Given the description of an element on the screen output the (x, y) to click on. 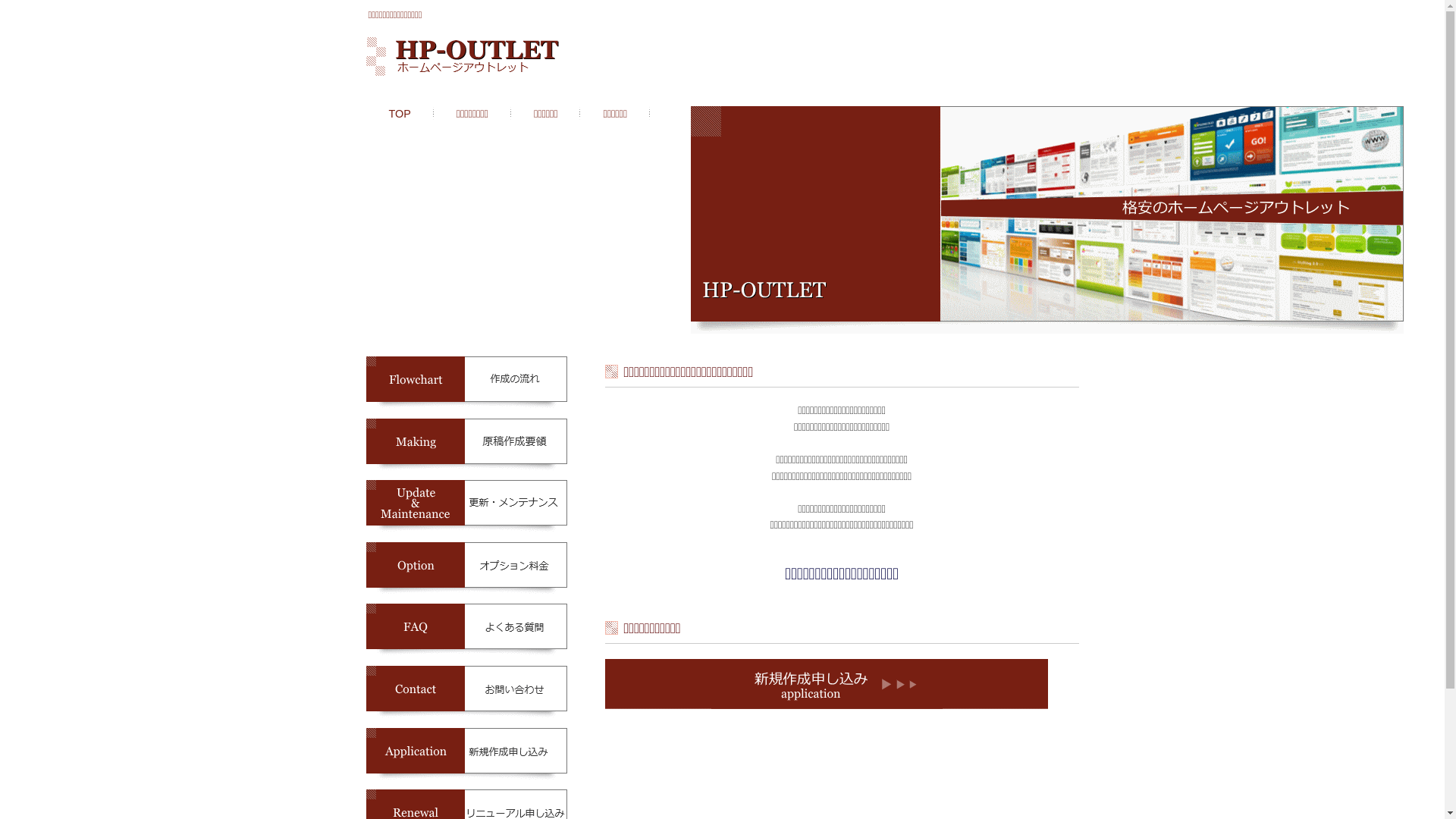
TOP Element type: text (399, 113)
